Given the description of an element on the screen output the (x, y) to click on. 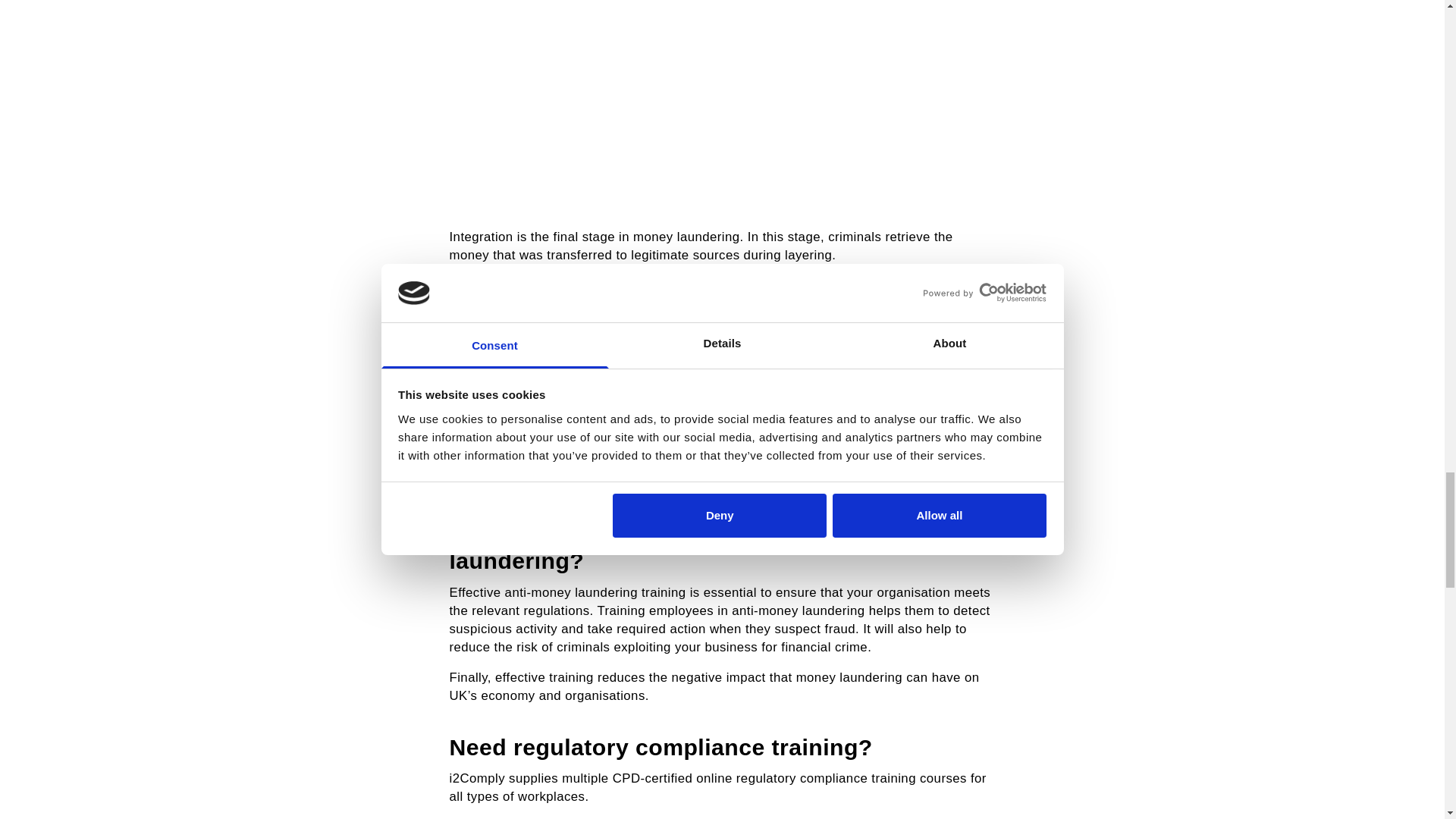
Integration stage of money laundering (721, 95)
